Given the description of an element on the screen output the (x, y) to click on. 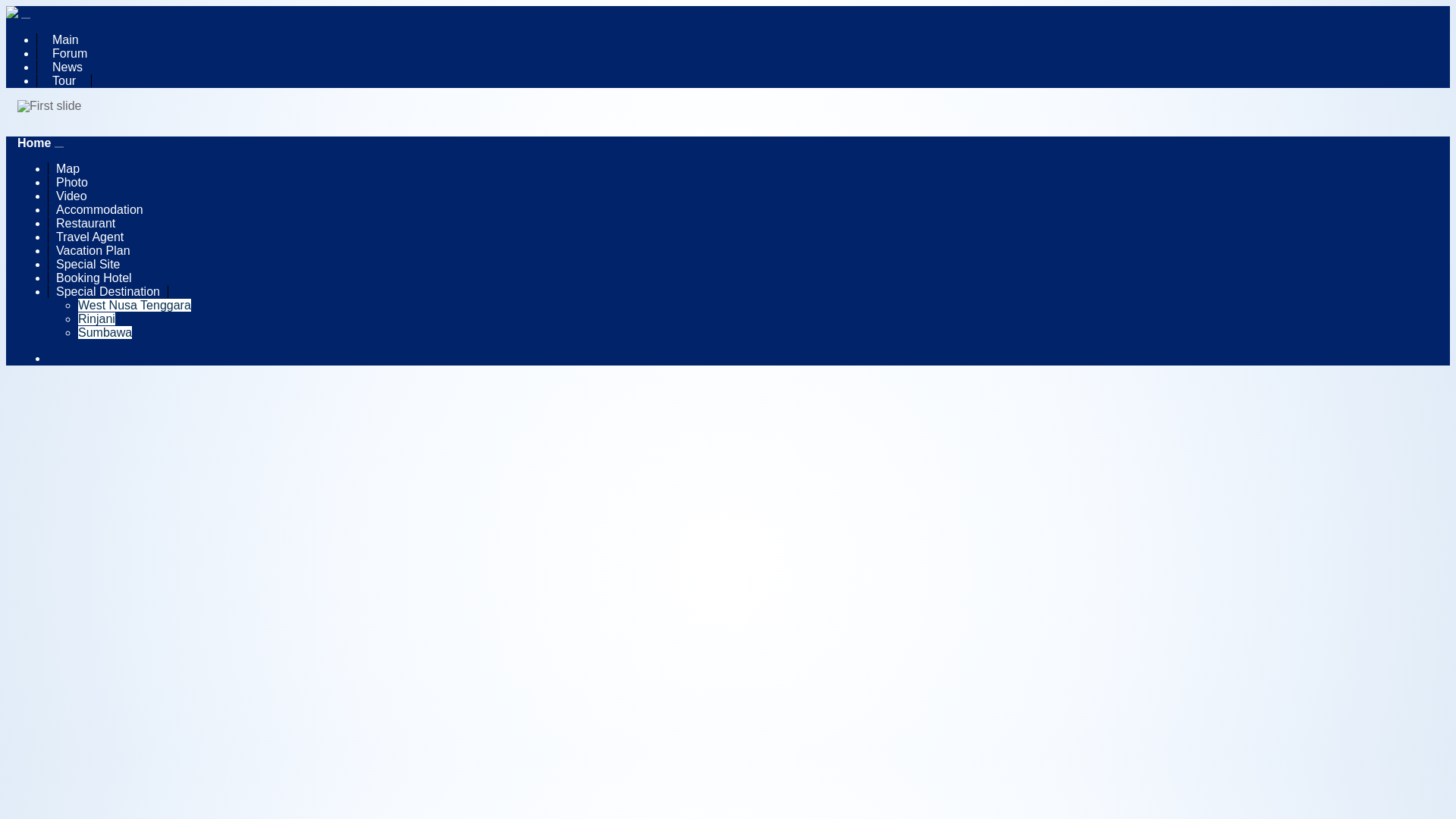
Video (71, 195)
Photo (72, 182)
Vacation Plan (93, 250)
Forum (68, 52)
Home (33, 142)
News (66, 66)
Special Destination (108, 291)
Restaurant (85, 223)
Booking Hotel (93, 277)
West Nusa Tenggara (134, 305)
